Given the description of an element on the screen output the (x, y) to click on. 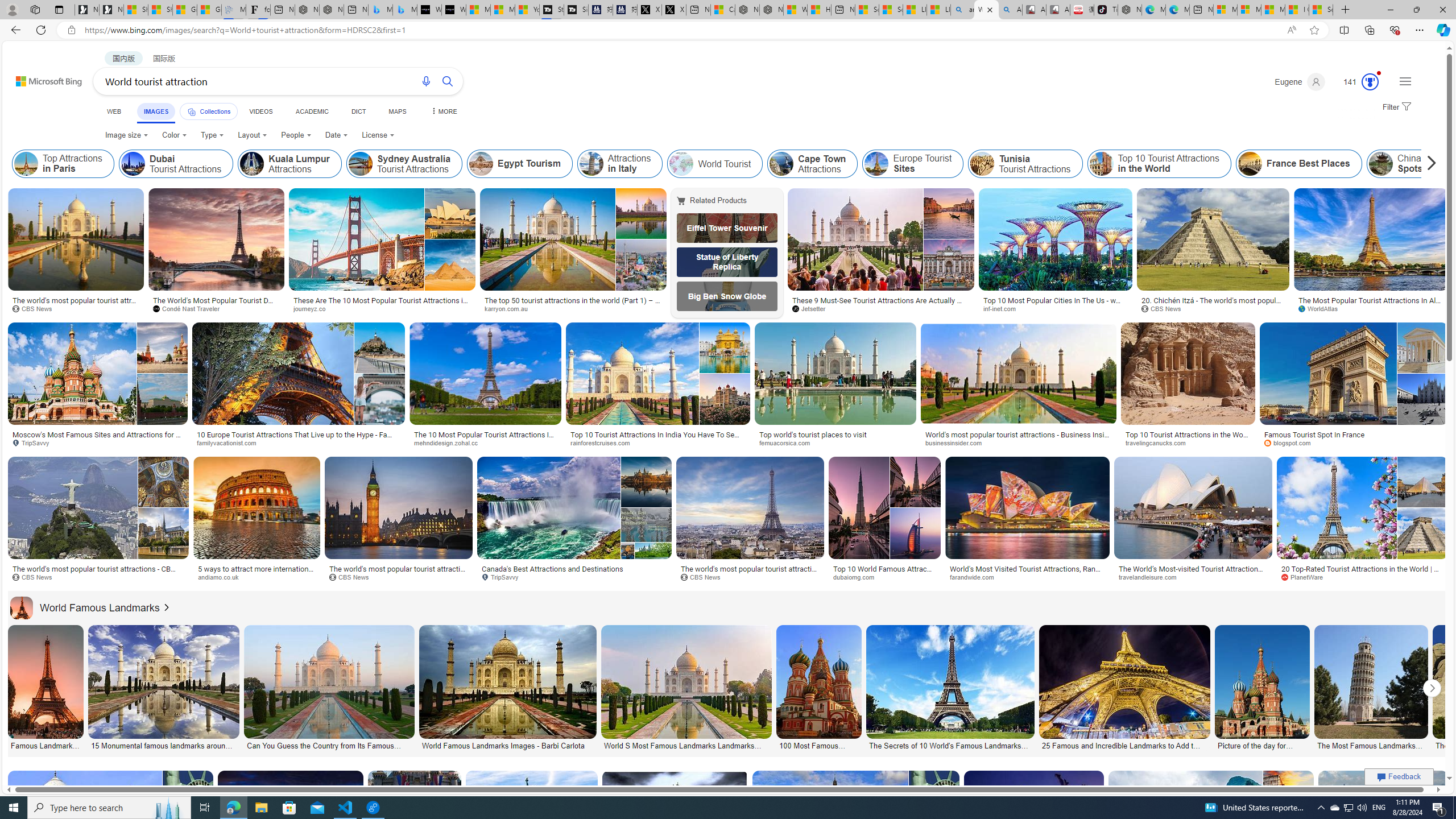
blogspot.com (1291, 442)
The world's most popular tourist attractions - CBS News (749, 572)
VIDEOS (260, 111)
IMAGES (156, 111)
Kuala Lumpur Attractions (252, 163)
The world's most popular tourist attractions (398, 572)
businessinsider.com (958, 442)
